Given the description of an element on the screen output the (x, y) to click on. 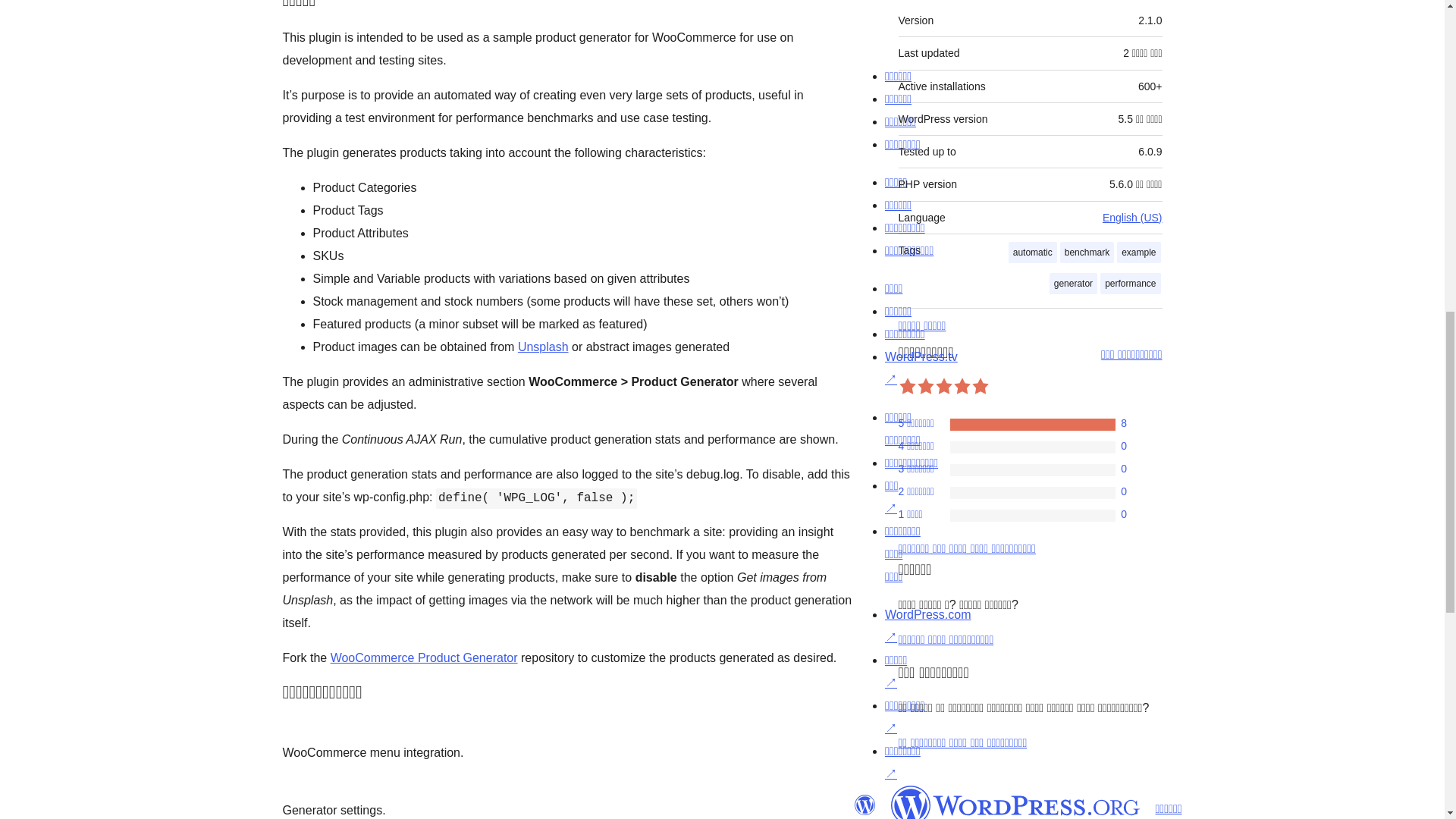
WordPress.org (1014, 802)
Unsplash (543, 346)
WooCommerce Product Generator (424, 657)
WordPress.org (864, 804)
